Given the description of an element on the screen output the (x, y) to click on. 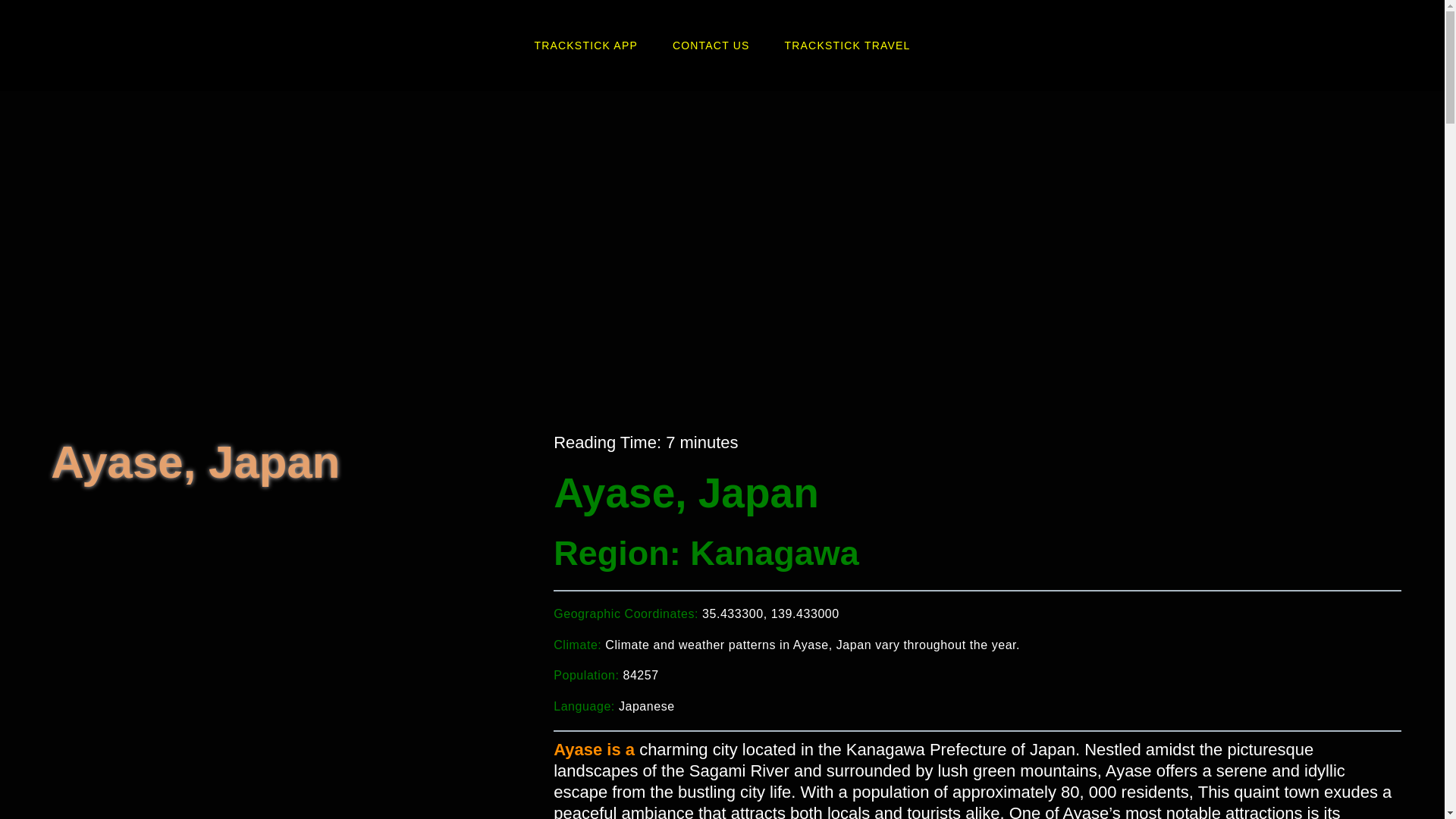
TRACKSTICK TRAVEL (847, 45)
TRACKSTICK APP (584, 45)
CONTACT US (711, 45)
